Given the description of an element on the screen output the (x, y) to click on. 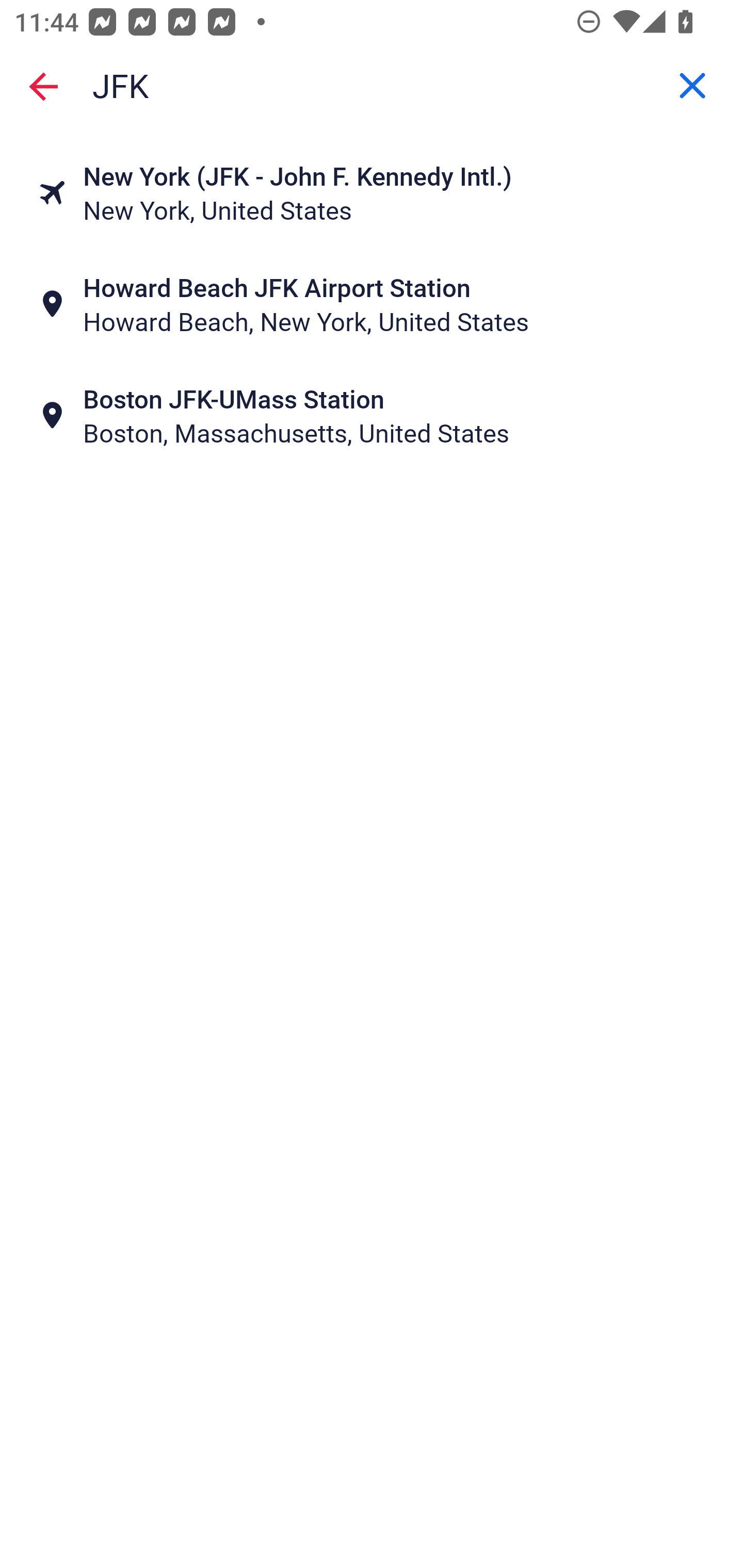
Clear Drop-off (692, 85)
Drop-off, JFK (371, 85)
Close search screen (43, 86)
